Given the description of an element on the screen output the (x, y) to click on. 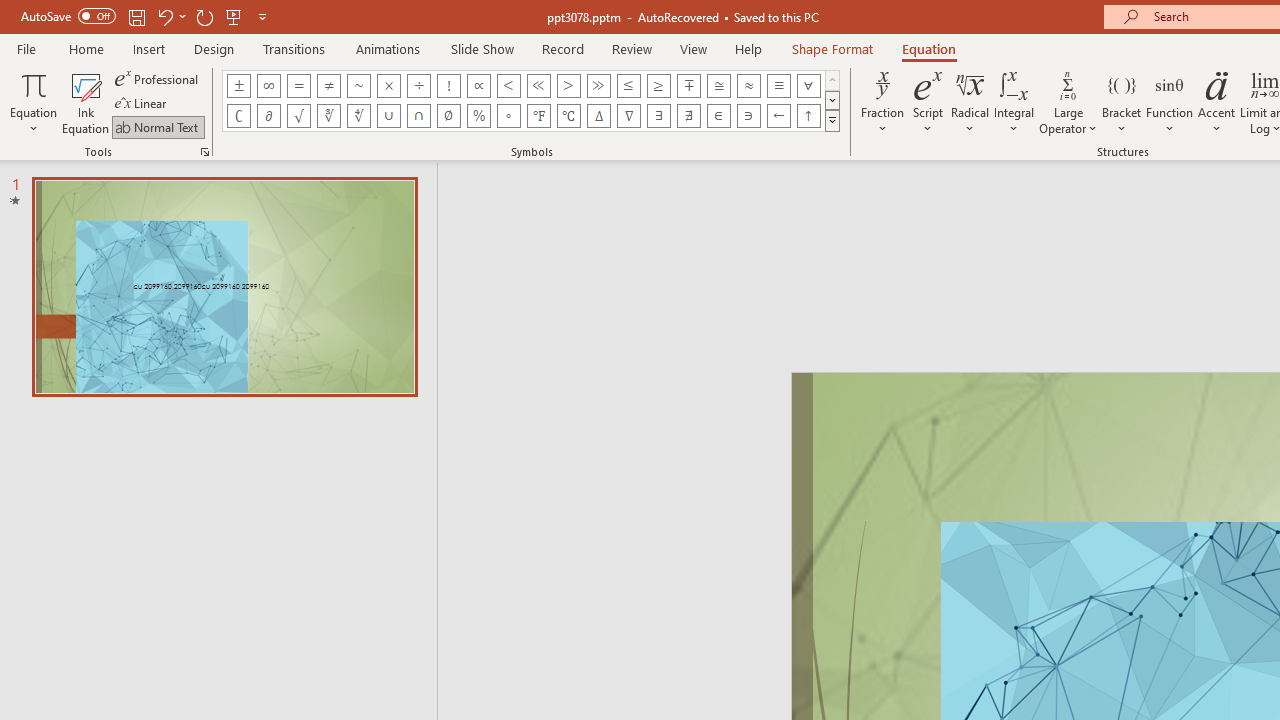
Equation Symbol Identical To (778, 85)
Equation Symbol Factorial (448, 85)
Equation Symbol Division Sign (418, 85)
Equation (33, 102)
Equation Symbol Minus Plus (689, 85)
Equation Symbol Infinity (268, 85)
Equation Symbol Cube Root (328, 115)
Ink Equation (86, 102)
